Given the description of an element on the screen output the (x, y) to click on. 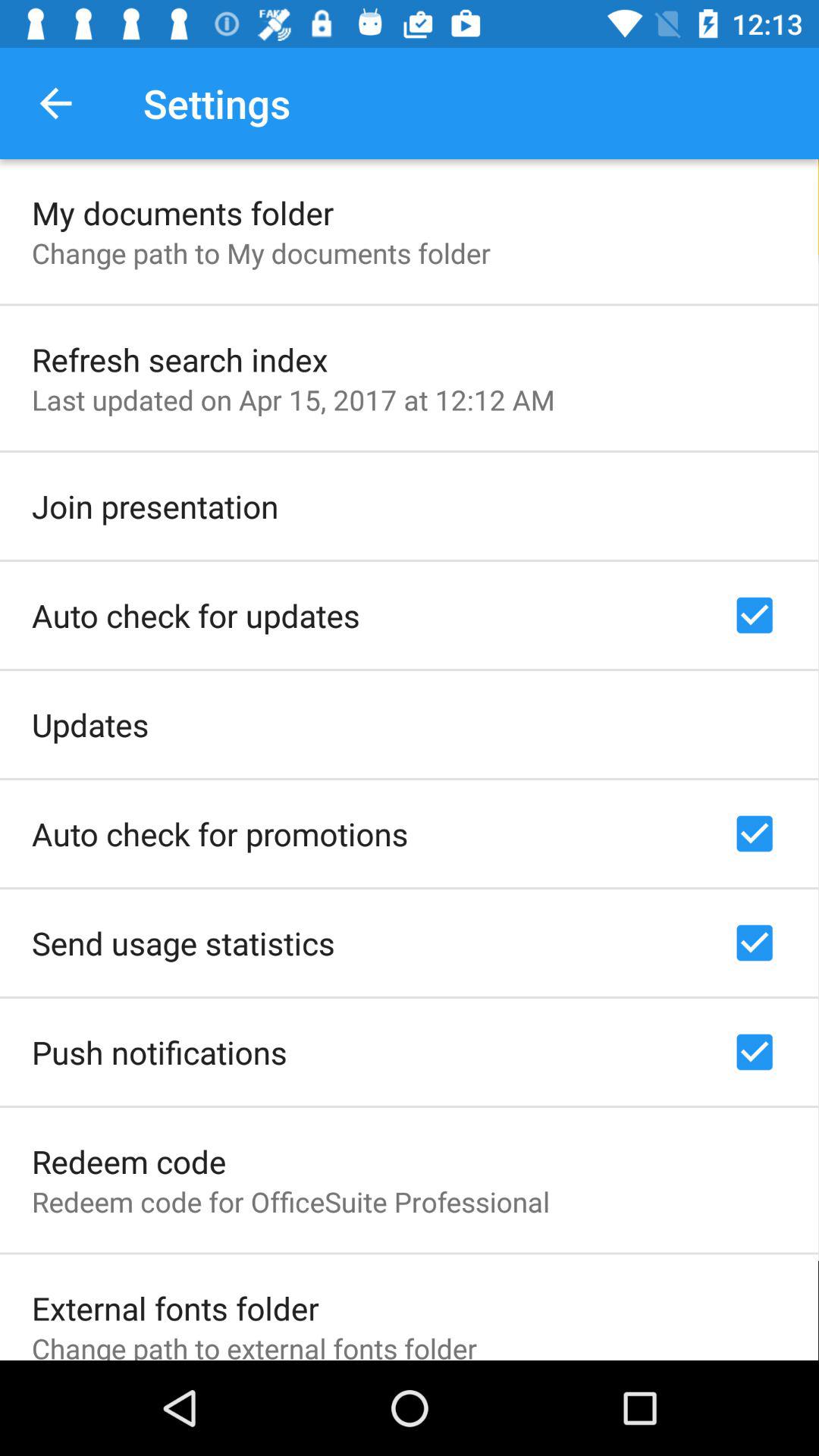
go to previous page (55, 103)
